Given the description of an element on the screen output the (x, y) to click on. 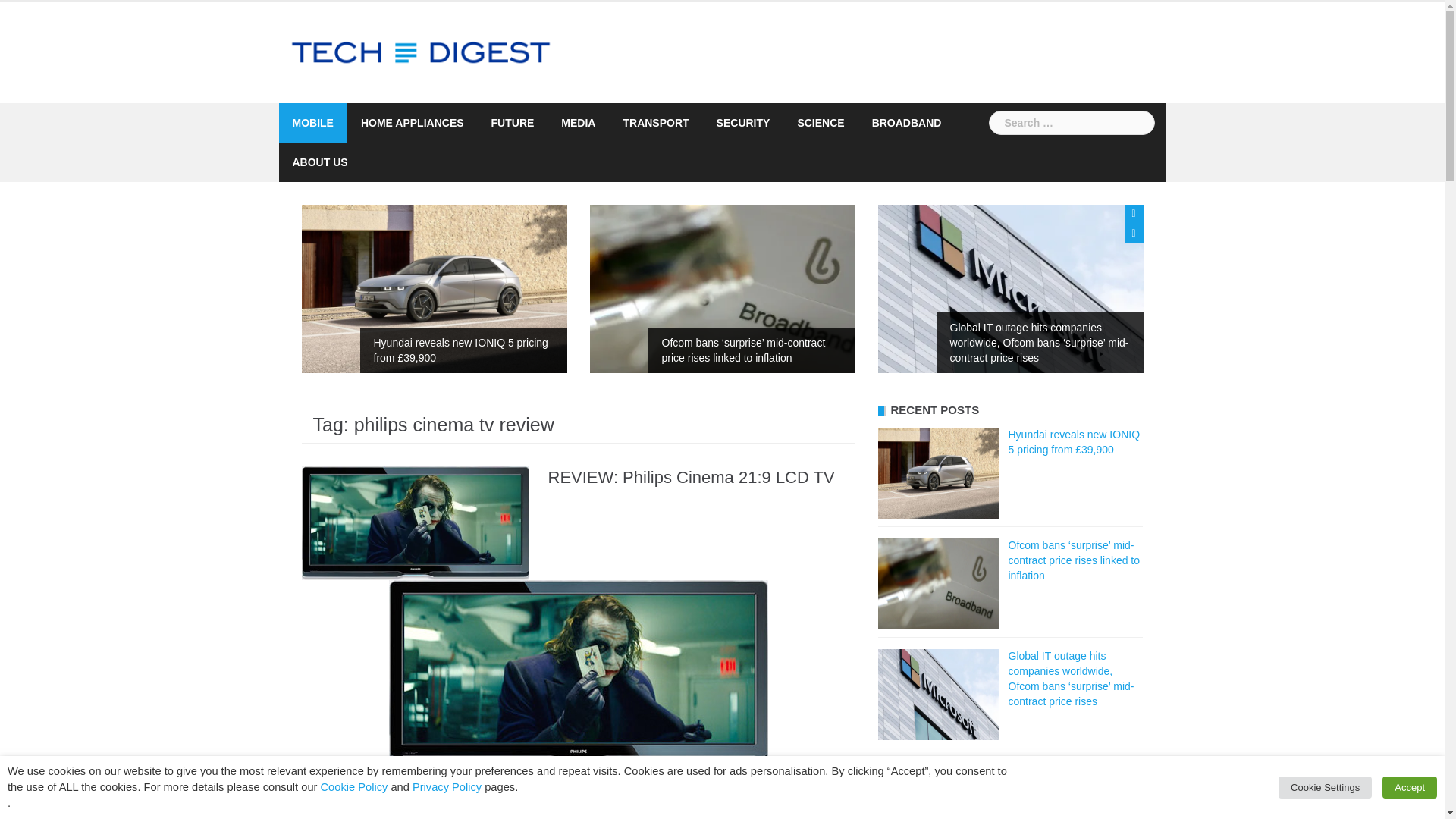
HOME APPLIANCES (412, 122)
Tech Digest (421, 51)
REVIEW: Philips Cinema 21:9 LCD TV (415, 521)
MOBILE (312, 122)
FUTURE (513, 122)
